Given the description of an element on the screen output the (x, y) to click on. 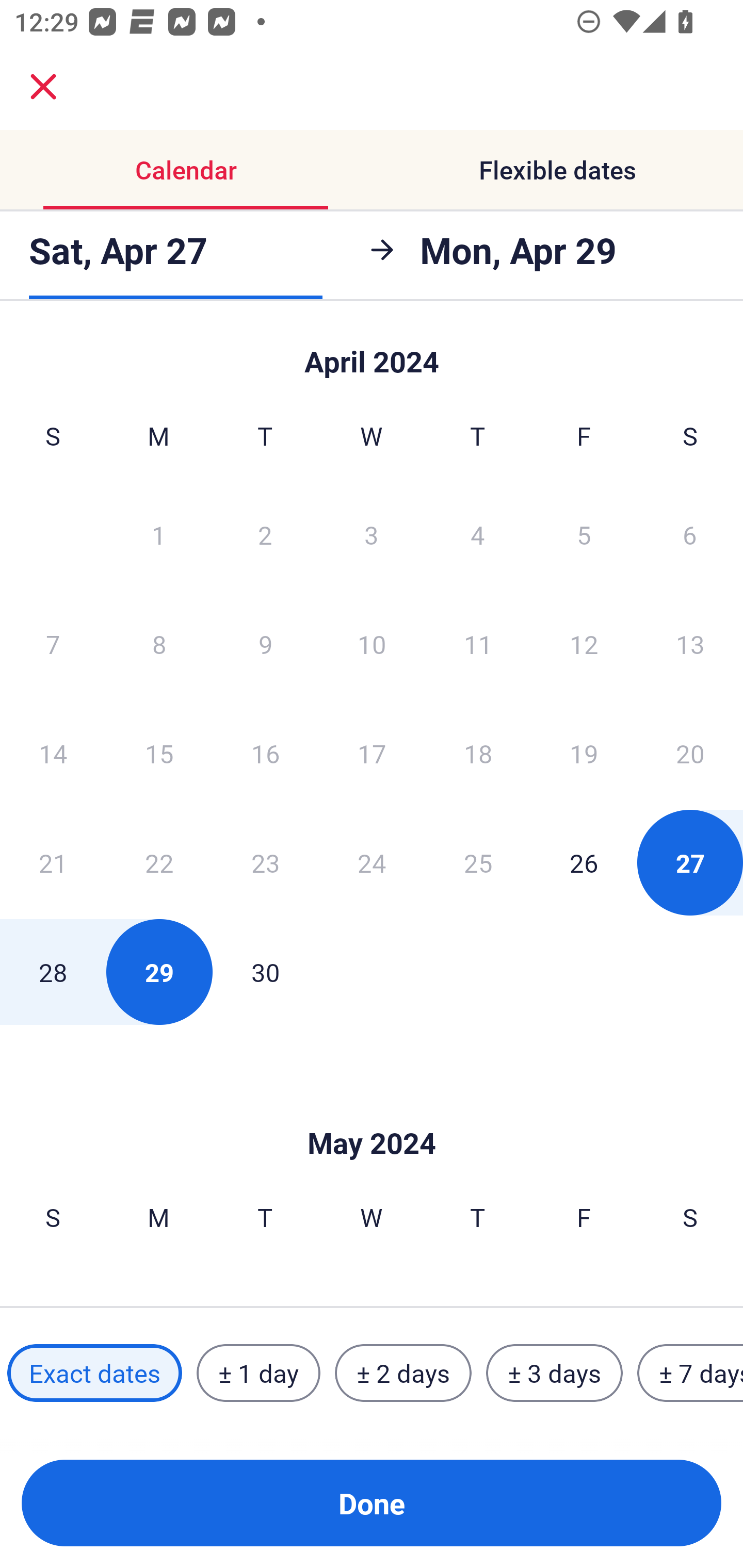
close. (43, 86)
Flexible dates (557, 170)
Skip to Done (371, 352)
1 Monday, April 1, 2024 (158, 534)
2 Tuesday, April 2, 2024 (264, 534)
3 Wednesday, April 3, 2024 (371, 534)
4 Thursday, April 4, 2024 (477, 534)
5 Friday, April 5, 2024 (583, 534)
6 Saturday, April 6, 2024 (689, 534)
7 Sunday, April 7, 2024 (53, 643)
8 Monday, April 8, 2024 (159, 643)
9 Tuesday, April 9, 2024 (265, 643)
10 Wednesday, April 10, 2024 (371, 643)
11 Thursday, April 11, 2024 (477, 643)
12 Friday, April 12, 2024 (584, 643)
13 Saturday, April 13, 2024 (690, 643)
14 Sunday, April 14, 2024 (53, 752)
15 Monday, April 15, 2024 (159, 752)
16 Tuesday, April 16, 2024 (265, 752)
17 Wednesday, April 17, 2024 (371, 752)
18 Thursday, April 18, 2024 (477, 752)
19 Friday, April 19, 2024 (584, 752)
20 Saturday, April 20, 2024 (690, 752)
21 Sunday, April 21, 2024 (53, 862)
22 Monday, April 22, 2024 (159, 862)
23 Tuesday, April 23, 2024 (265, 862)
24 Wednesday, April 24, 2024 (371, 862)
25 Thursday, April 25, 2024 (477, 862)
26 Friday, April 26, 2024 (584, 862)
30 Tuesday, April 30, 2024 (265, 971)
Skip to Done (371, 1112)
Exact dates (94, 1372)
± 1 day (258, 1372)
± 2 days (403, 1372)
± 3 days (553, 1372)
± 7 days (690, 1372)
Done (371, 1502)
